Given the description of an element on the screen output the (x, y) to click on. 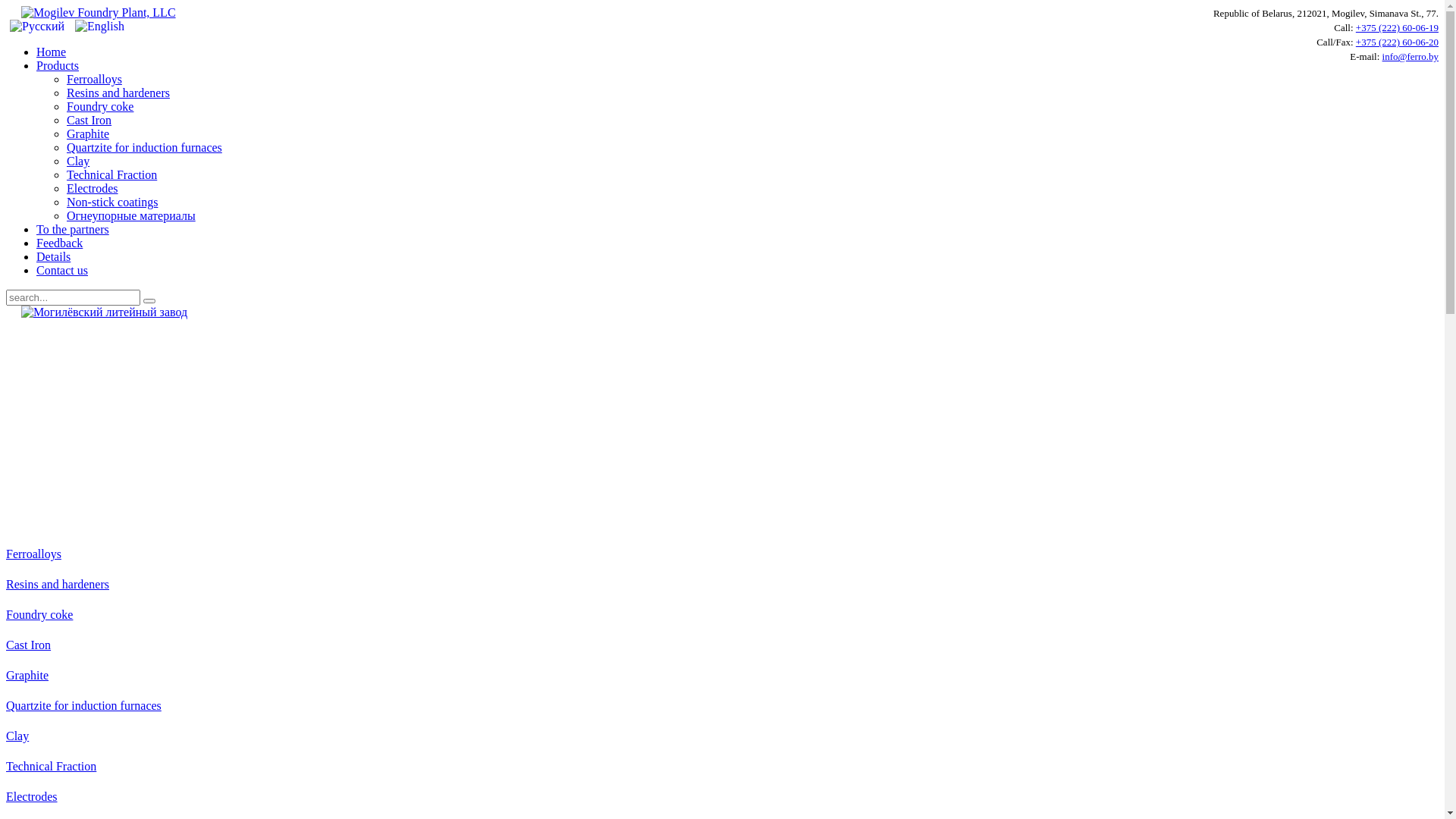
+375 (222) 60-06-20 Element type: text (1396, 41)
Technical Fraction Element type: text (111, 174)
Cast Iron Element type: text (88, 119)
Cast Iron Element type: text (28, 644)
Products Element type: text (57, 65)
Technical Fraction Element type: text (51, 765)
Non-stick coatings Element type: text (111, 201)
Contact us Element type: text (61, 269)
Foundry coke Element type: text (39, 614)
+375 (222) 60-06-19 Element type: text (1396, 27)
Resins and hardeners Element type: text (117, 92)
Details Element type: text (53, 256)
info@ferro.by Element type: text (1410, 56)
Clay Element type: text (77, 160)
Ferroalloys Element type: text (94, 78)
Graphite Element type: text (27, 674)
Graphite Element type: text (87, 133)
Foundry coke Element type: text (99, 106)
Electrodes Element type: text (31, 796)
Electrodes Element type: text (92, 188)
Quartzite for induction furnaces Element type: text (83, 705)
To the partners Element type: text (72, 228)
Quartzite for induction furnaces Element type: text (144, 147)
Ferroalloys Element type: text (33, 553)
Feedback Element type: text (59, 242)
Clay Element type: text (17, 735)
Home Element type: text (50, 51)
English Element type: hover (99, 26)
Resins and hardeners Element type: text (57, 583)
